Given the description of an element on the screen output the (x, y) to click on. 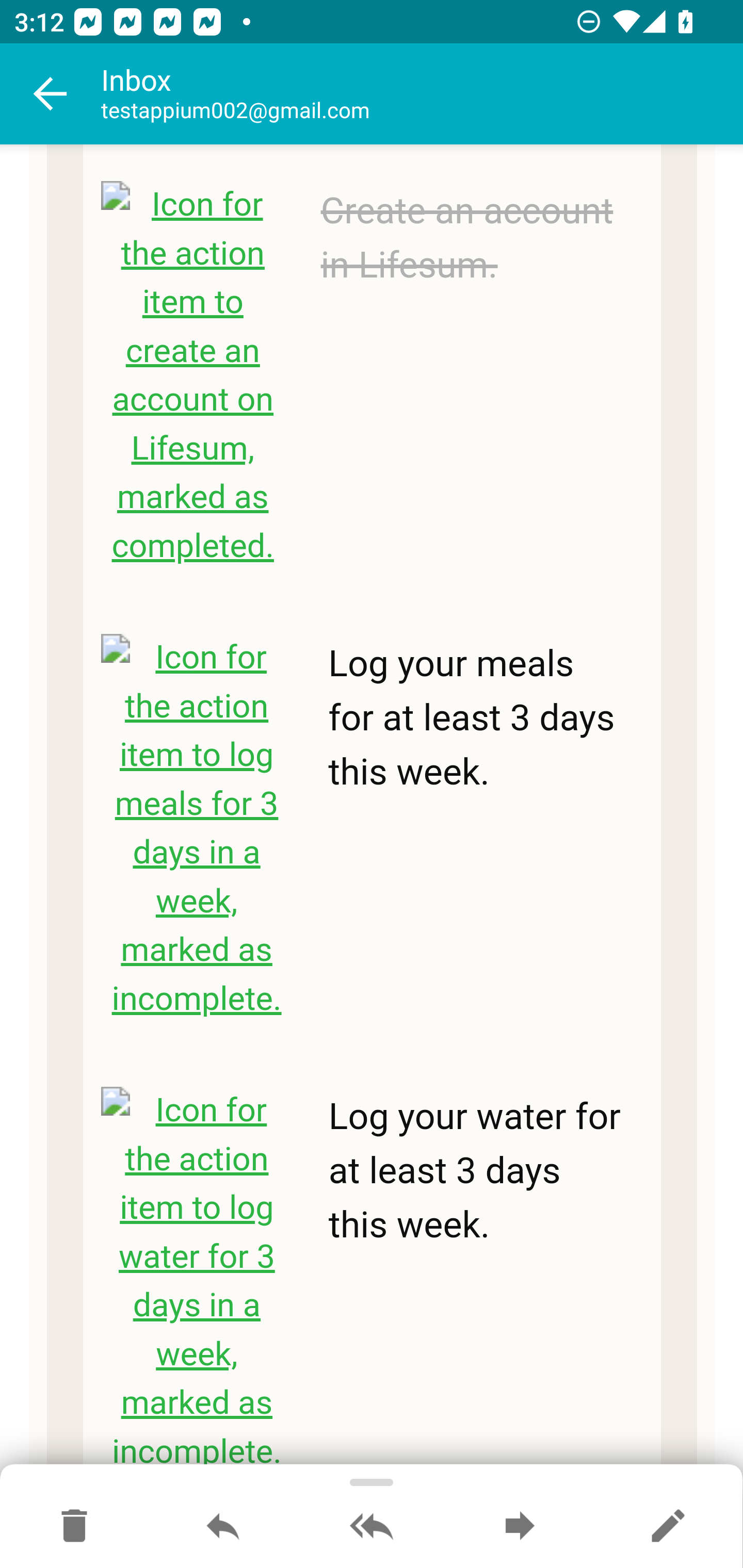
Navigate up (50, 93)
Inbox testappium002@gmail.com (422, 93)
Move to Deleted (74, 1527)
Reply (222, 1527)
Reply all (371, 1527)
Forward (519, 1527)
Reply as new (667, 1527)
